Given the description of an element on the screen output the (x, y) to click on. 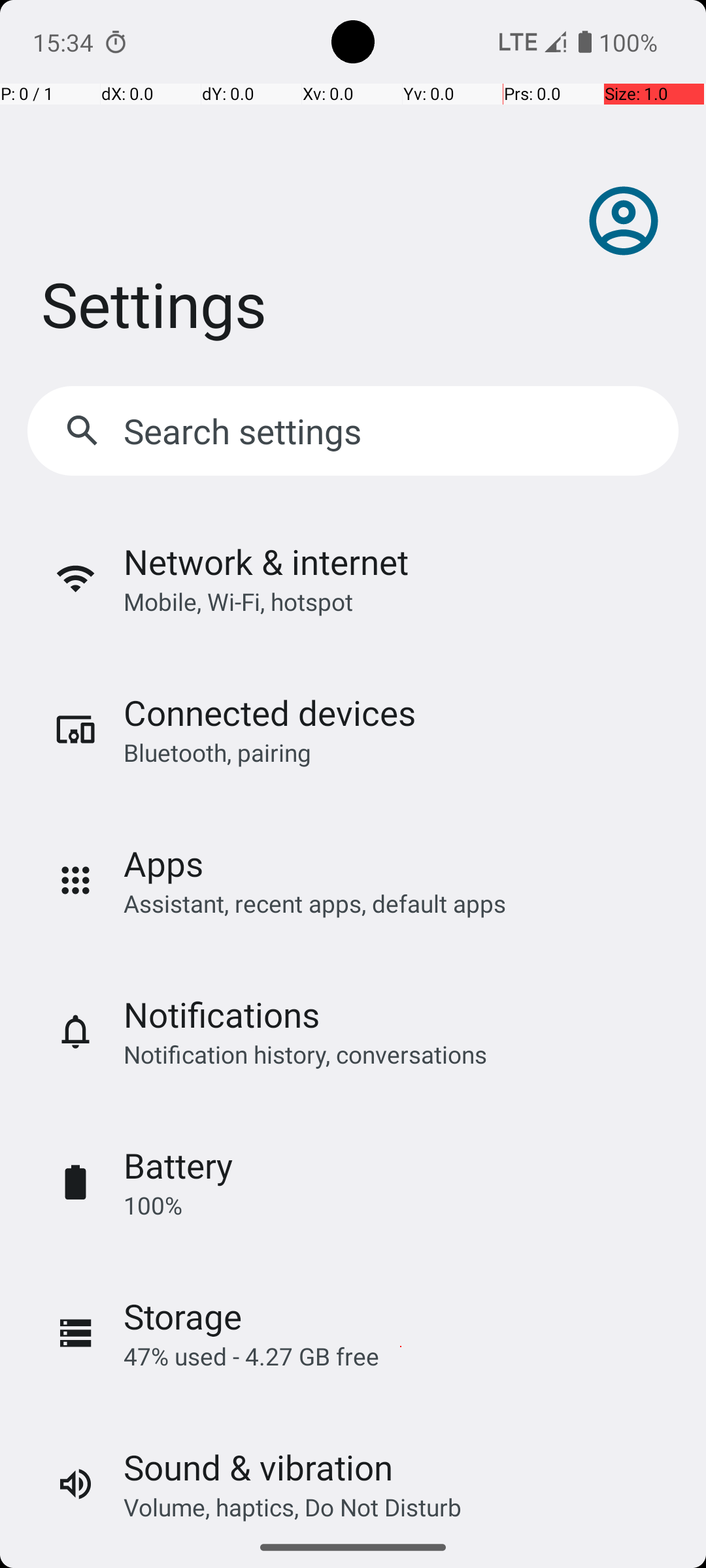
47% used - 4.27 GB free Element type: android.widget.TextView (251, 1355)
